Given the description of an element on the screen output the (x, y) to click on. 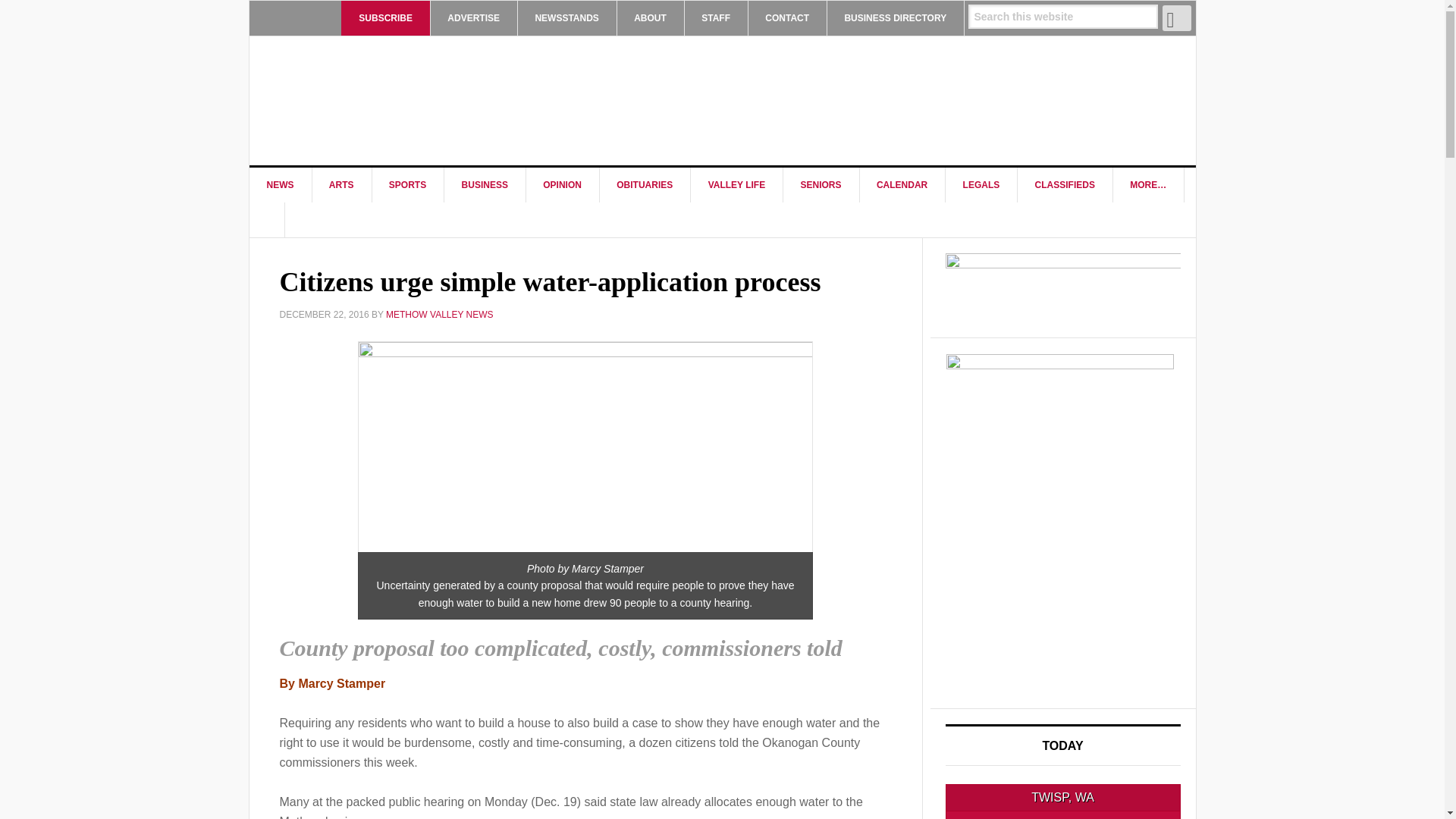
NEWSSTANDS (565, 18)
CLASSIFIEDS (1065, 184)
LEGALS (980, 184)
BUSINESS DIRECTORY (895, 18)
STAFF (716, 18)
NEWS (279, 184)
OBITUARIES (644, 184)
CALENDAR (901, 184)
SUBSCRIBE (385, 18)
BUSINESS (484, 184)
SENIORS (821, 184)
VALLEY LIFE (737, 184)
ABOUT (649, 18)
CONTACT (787, 18)
